Given the description of an element on the screen output the (x, y) to click on. 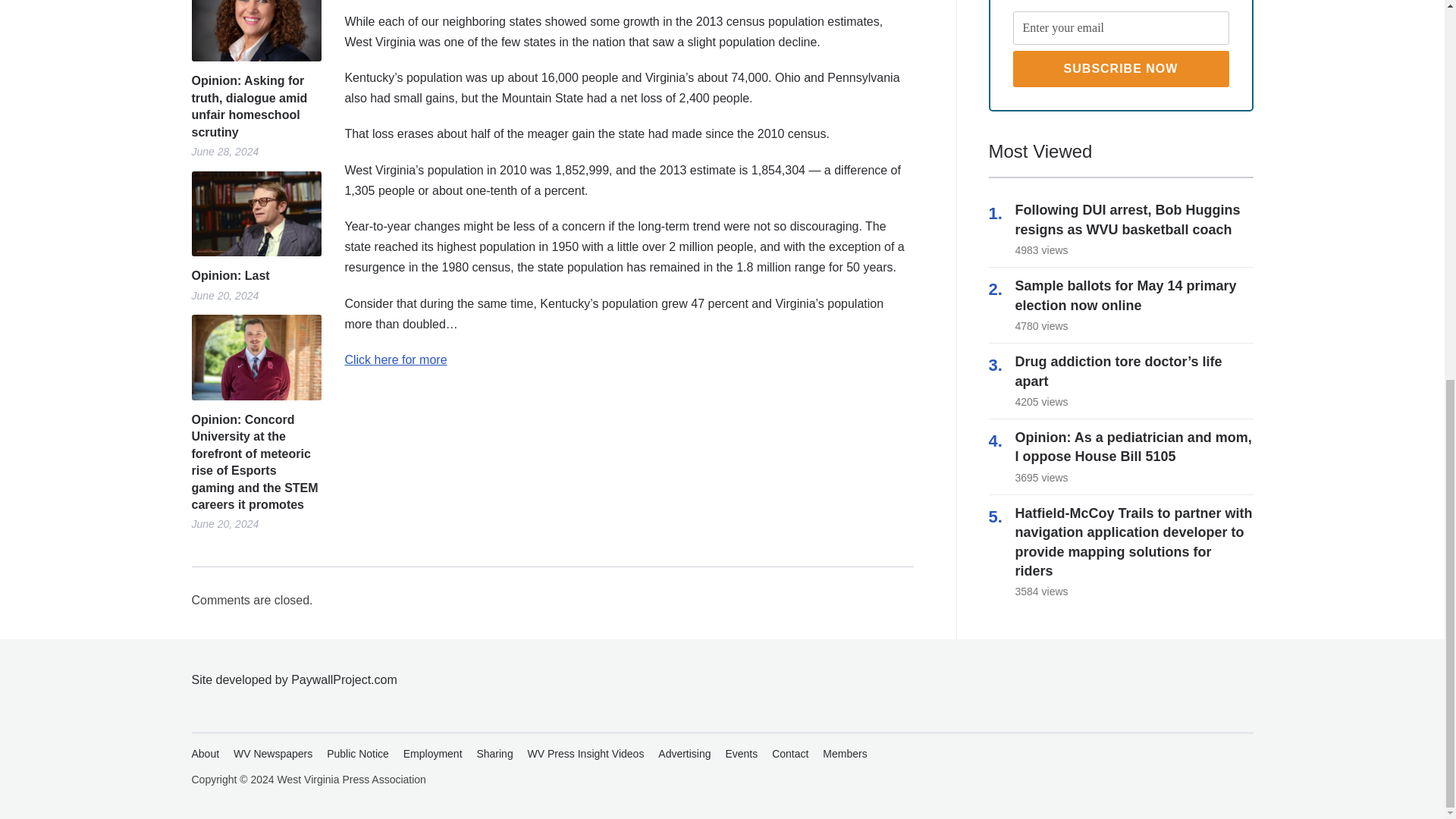
Permalink to Opinion: Last (255, 214)
Subscribe Now (1120, 68)
Permalink to Opinion: Last (255, 275)
